Given the description of an element on the screen output the (x, y) to click on. 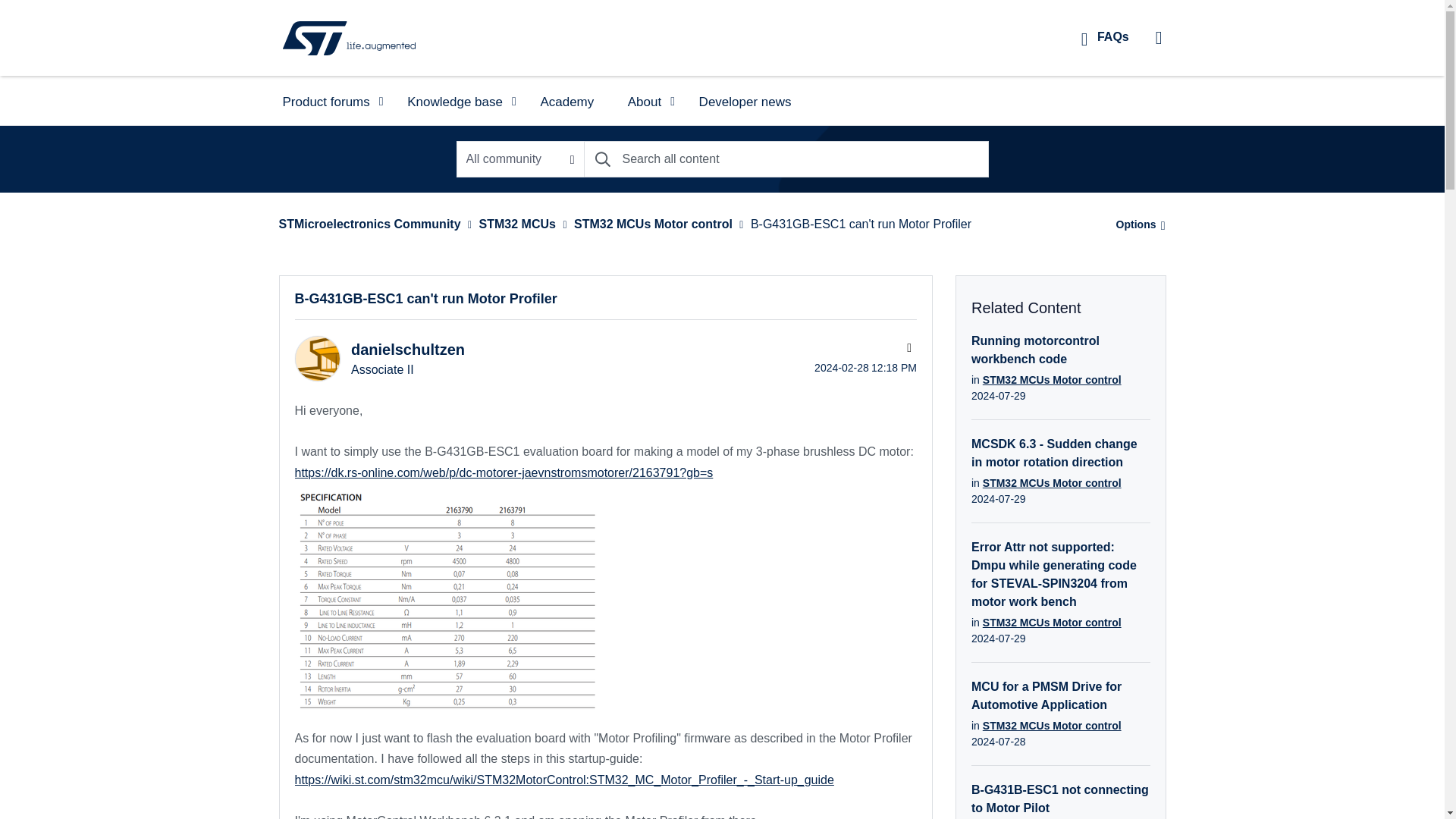
STMicroelectronics Community (348, 37)
Search (785, 158)
Show option menu (1136, 224)
Search Granularity (520, 158)
Search (602, 159)
Search (602, 159)
danielschultzen (316, 358)
Product forums (327, 100)
FAQs (1105, 35)
